Given the description of an element on the screen output the (x, y) to click on. 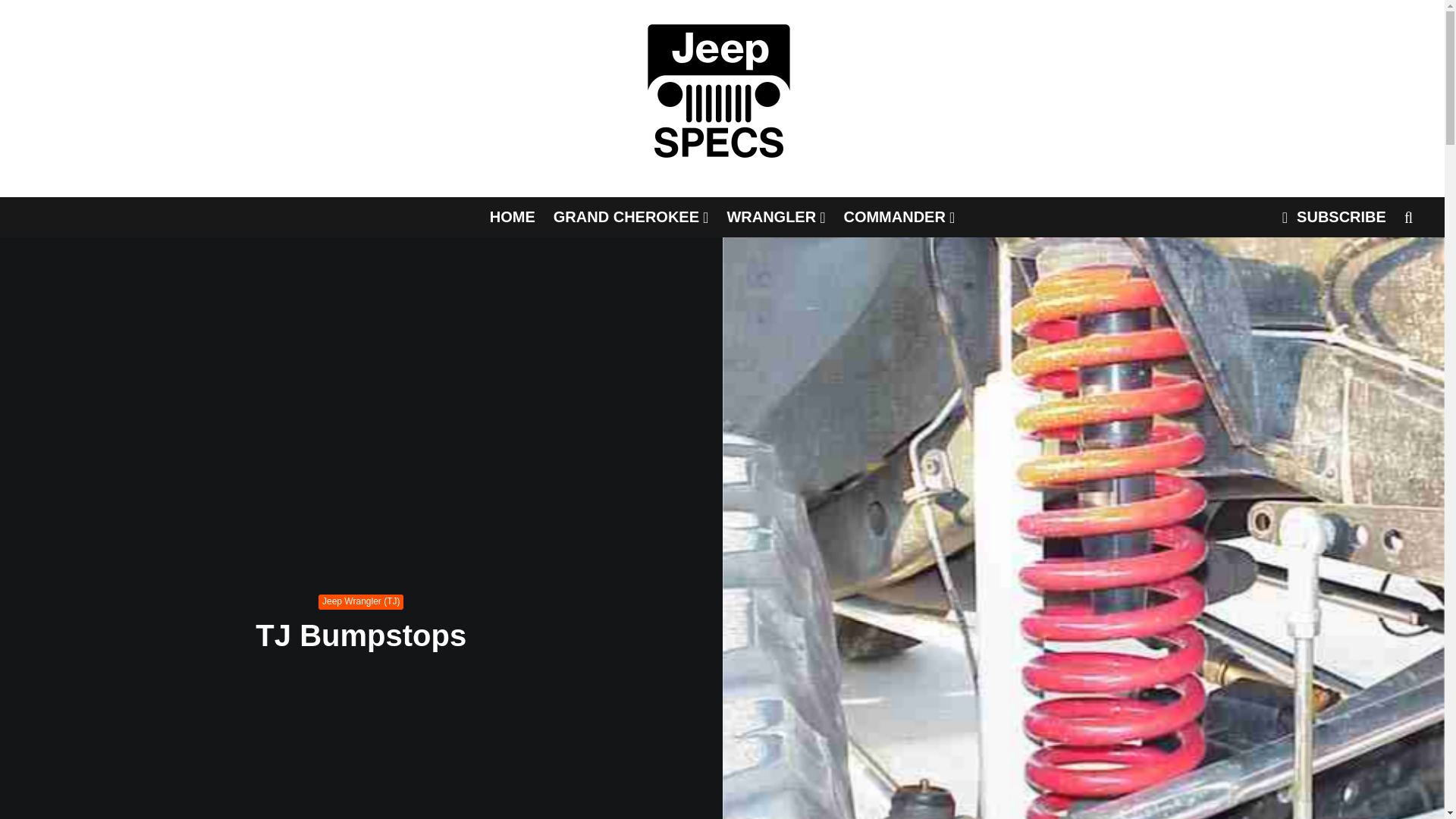
HOME (512, 217)
SUBSCRIBE (1333, 217)
GRAND CHEROKEE (630, 217)
WRANGLER (775, 217)
COMMANDER (898, 217)
